Given the description of an element on the screen output the (x, y) to click on. 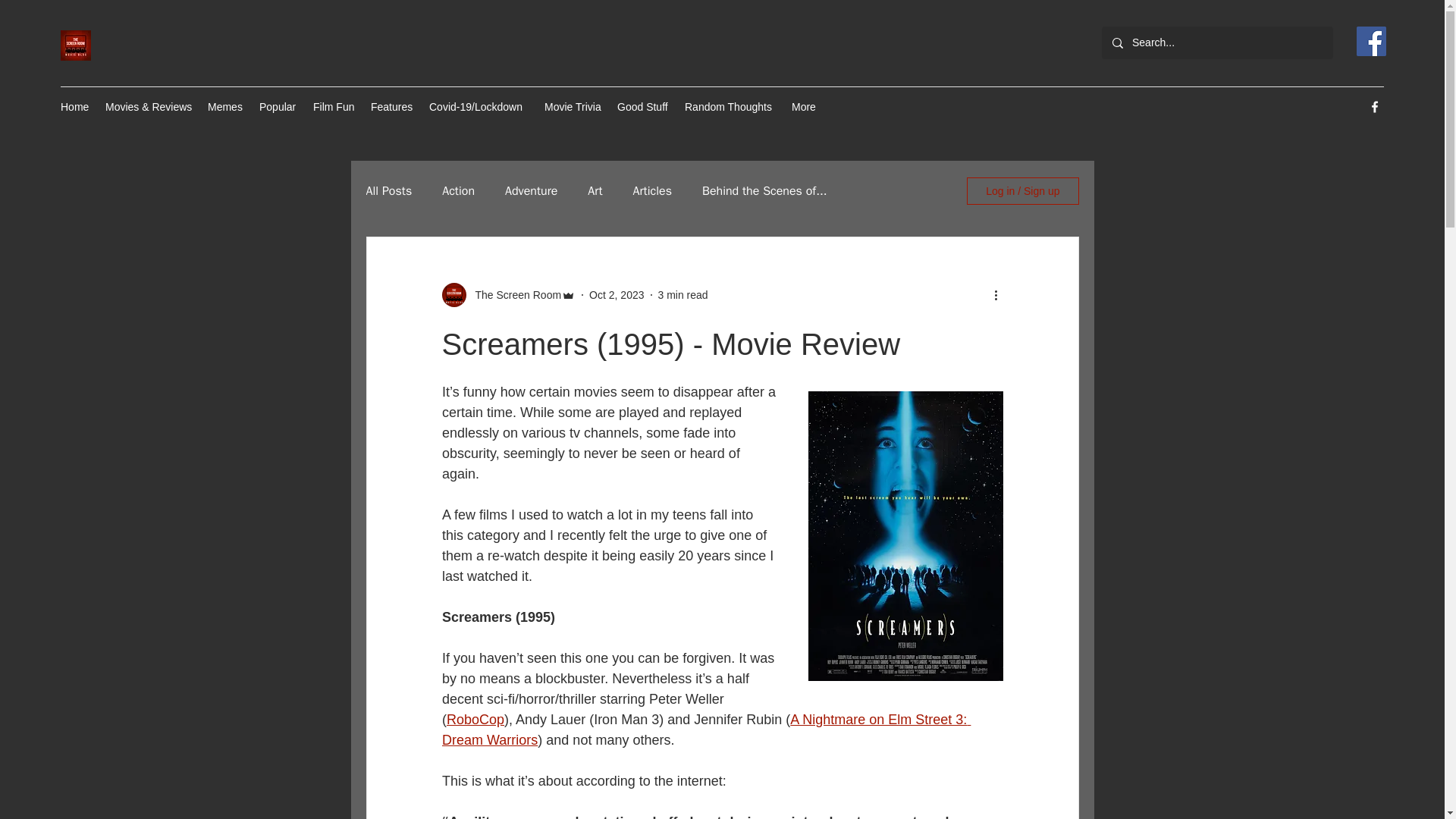
The Screen Room (512, 294)
Oct 2, 2023 (616, 294)
3 min read (682, 294)
Home (74, 106)
Popular (278, 106)
Memes (225, 106)
